Given the description of an element on the screen output the (x, y) to click on. 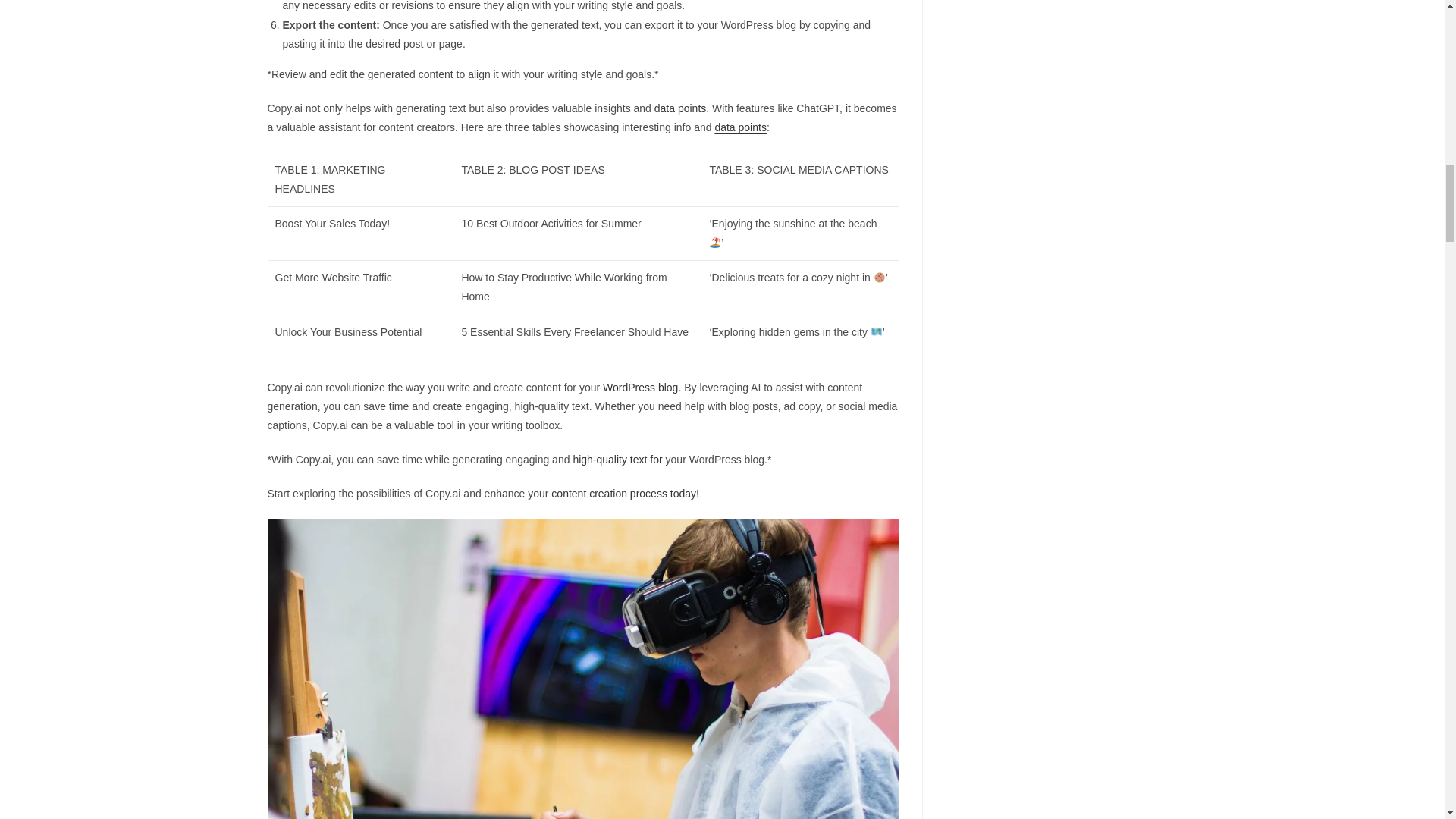
data points (679, 108)
high-quality text for (617, 459)
content creation process today (623, 493)
WordPress blog (640, 386)
data points (740, 127)
